Given the description of an element on the screen output the (x, y) to click on. 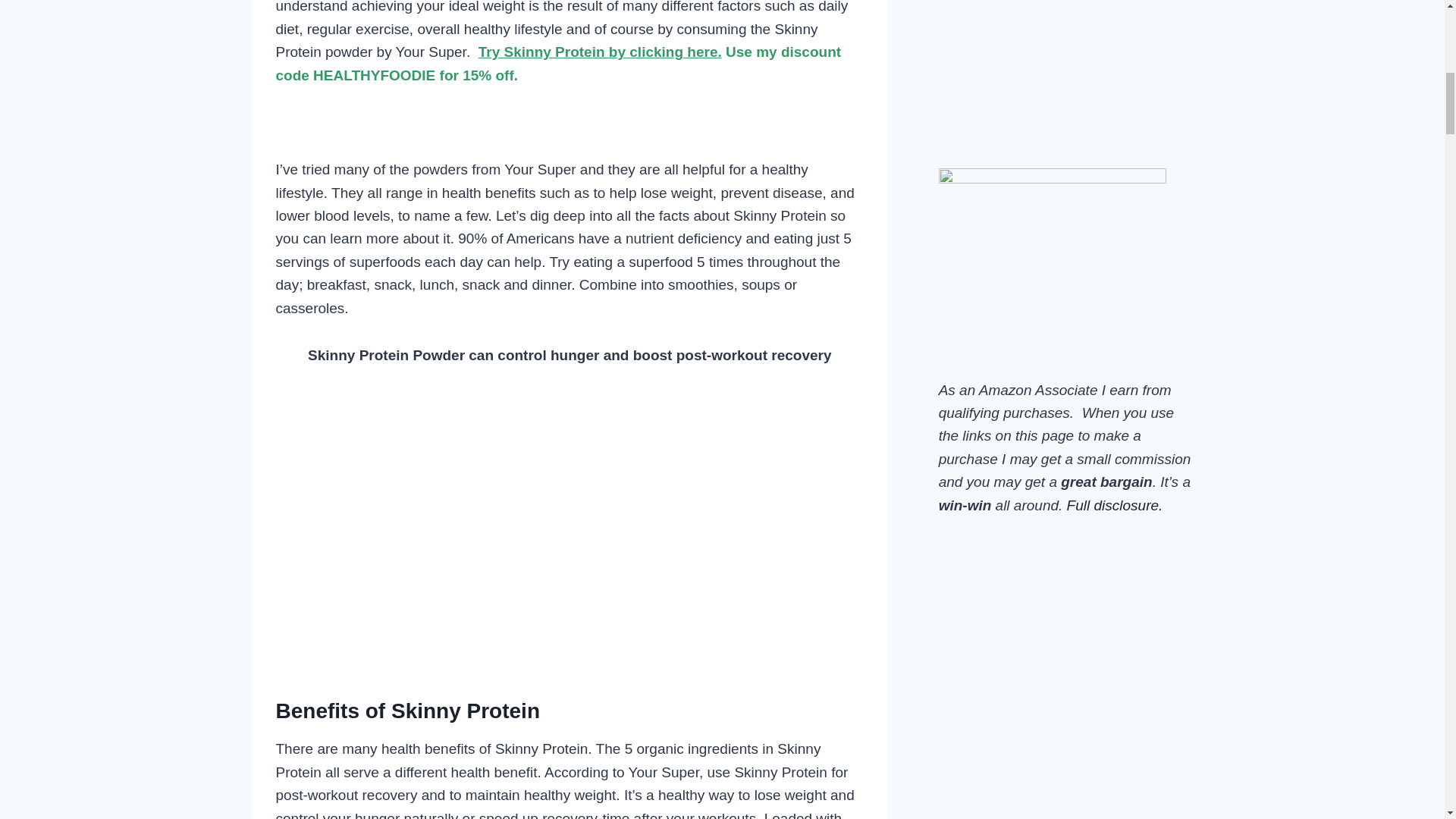
Try Skinny Protein by clicking here. (600, 51)
